Given the description of an element on the screen output the (x, y) to click on. 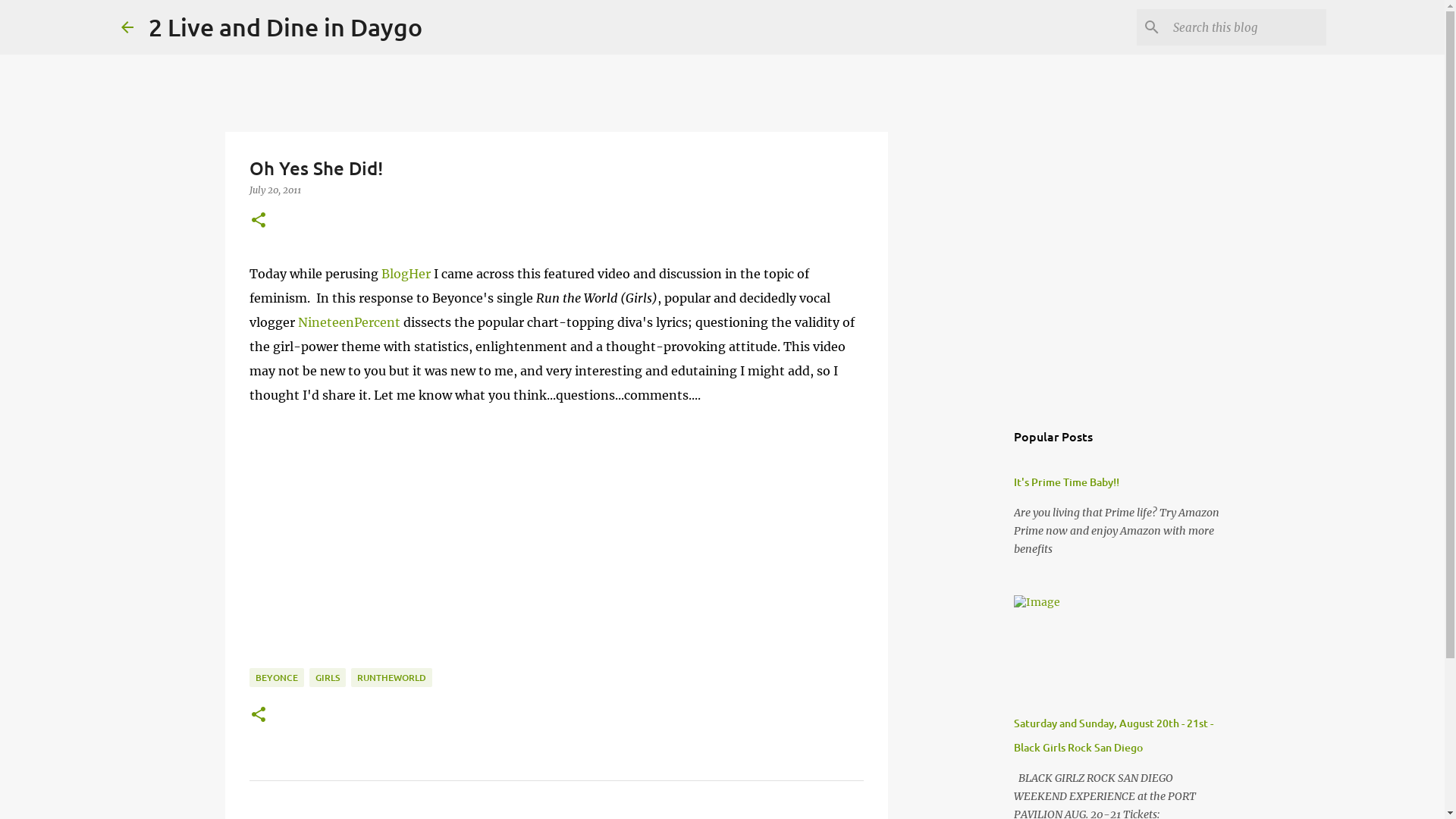
BEYONCE Element type: text (275, 677)
NineteenPercent Element type: text (346, 321)
RUNTHEWORLD Element type: text (390, 677)
BlogHer Element type: text (404, 273)
2 Live and Dine in Daygo Element type: text (285, 26)
July 20, 2011 Element type: text (274, 189)
GIRLS Element type: text (327, 677)
It's Prime Time Baby!! Element type: text (1065, 481)
